Given the description of an element on the screen output the (x, y) to click on. 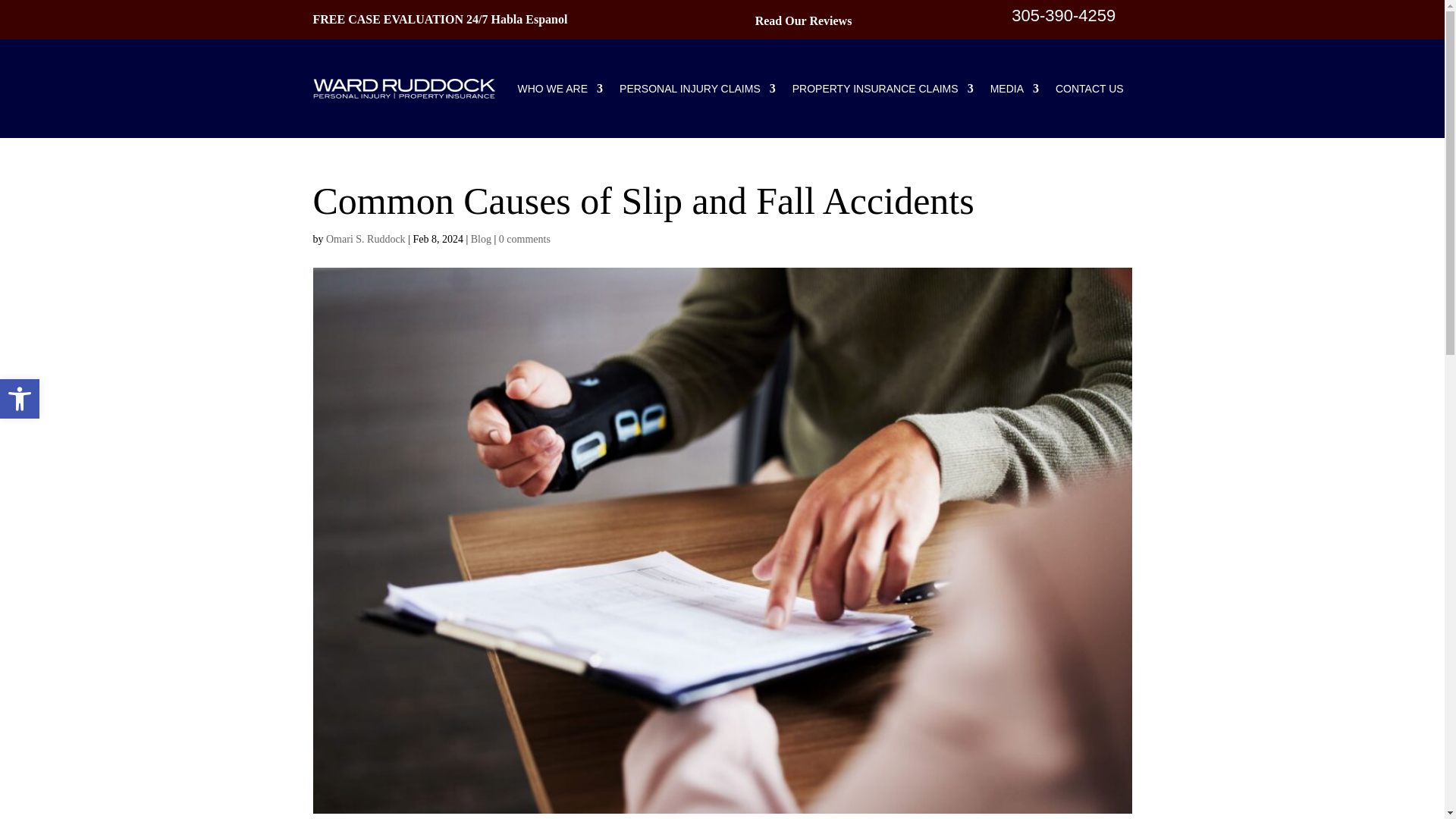
Posts by Omari S. Ruddock (366, 238)
Accessibility Tools (19, 398)
Accessibility Tools (19, 398)
WHO WE ARE (559, 88)
PERSONAL INJURY CLAIMS (698, 88)
PROPERTY INSURANCE CLAIMS (883, 88)
305-390-4259 (1063, 15)
